Given the description of an element on the screen output the (x, y) to click on. 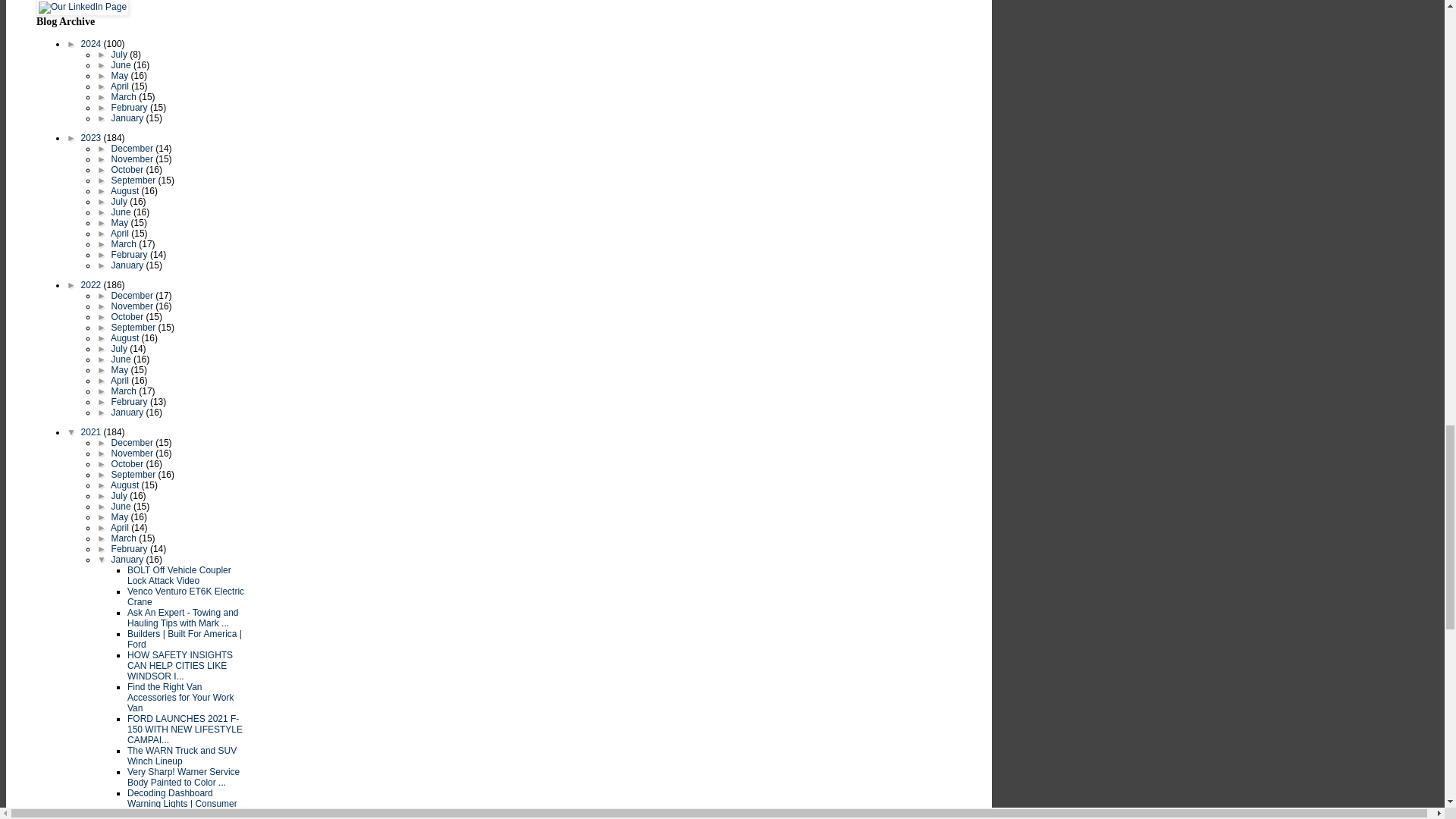
July (121, 54)
March (125, 96)
2023 (92, 137)
January (129, 118)
2024 (92, 43)
May (121, 75)
February (130, 107)
April (120, 86)
June (122, 64)
